Given the description of an element on the screen output the (x, y) to click on. 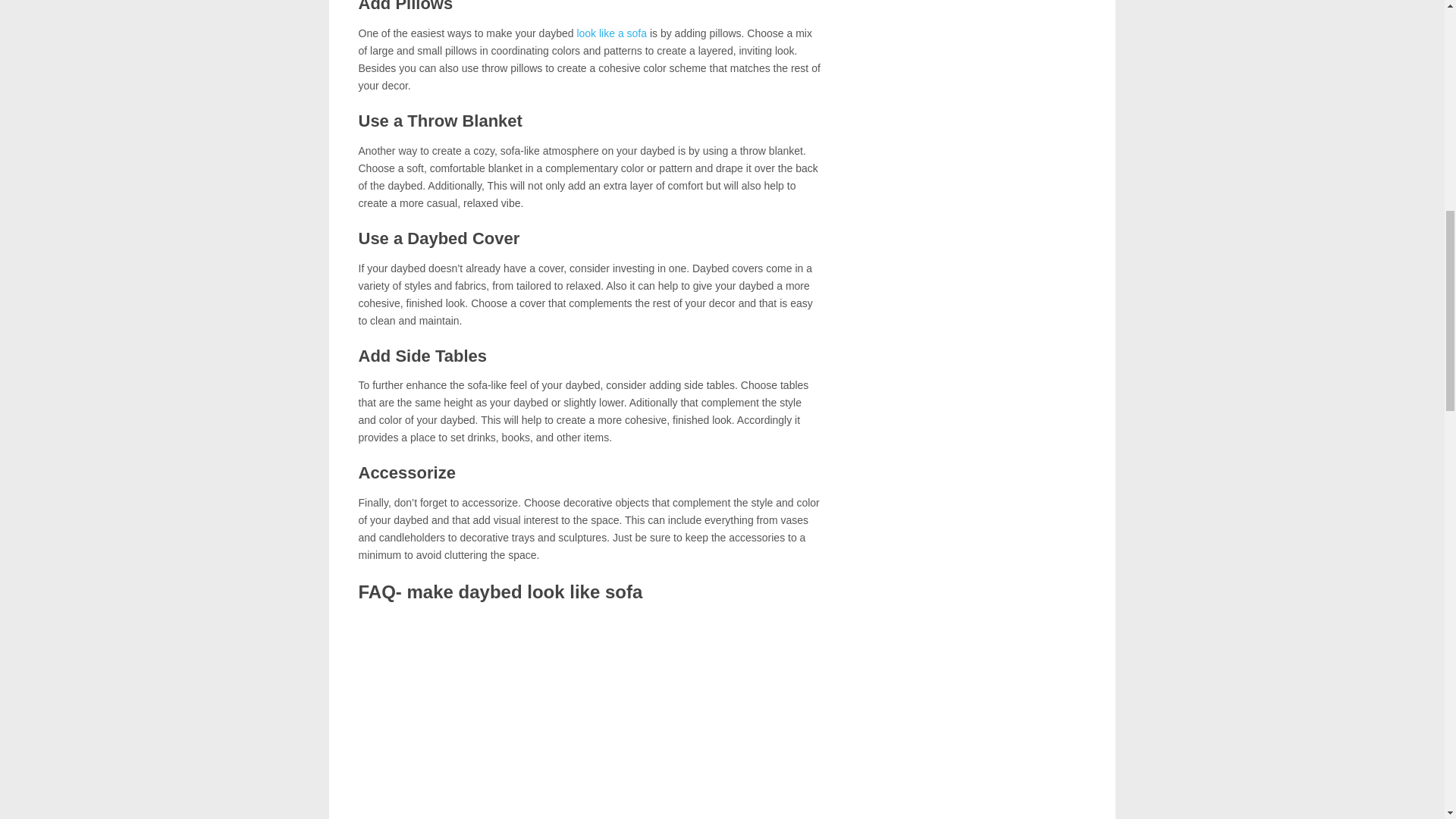
look like a sofa (611, 33)
